Given the description of an element on the screen output the (x, y) to click on. 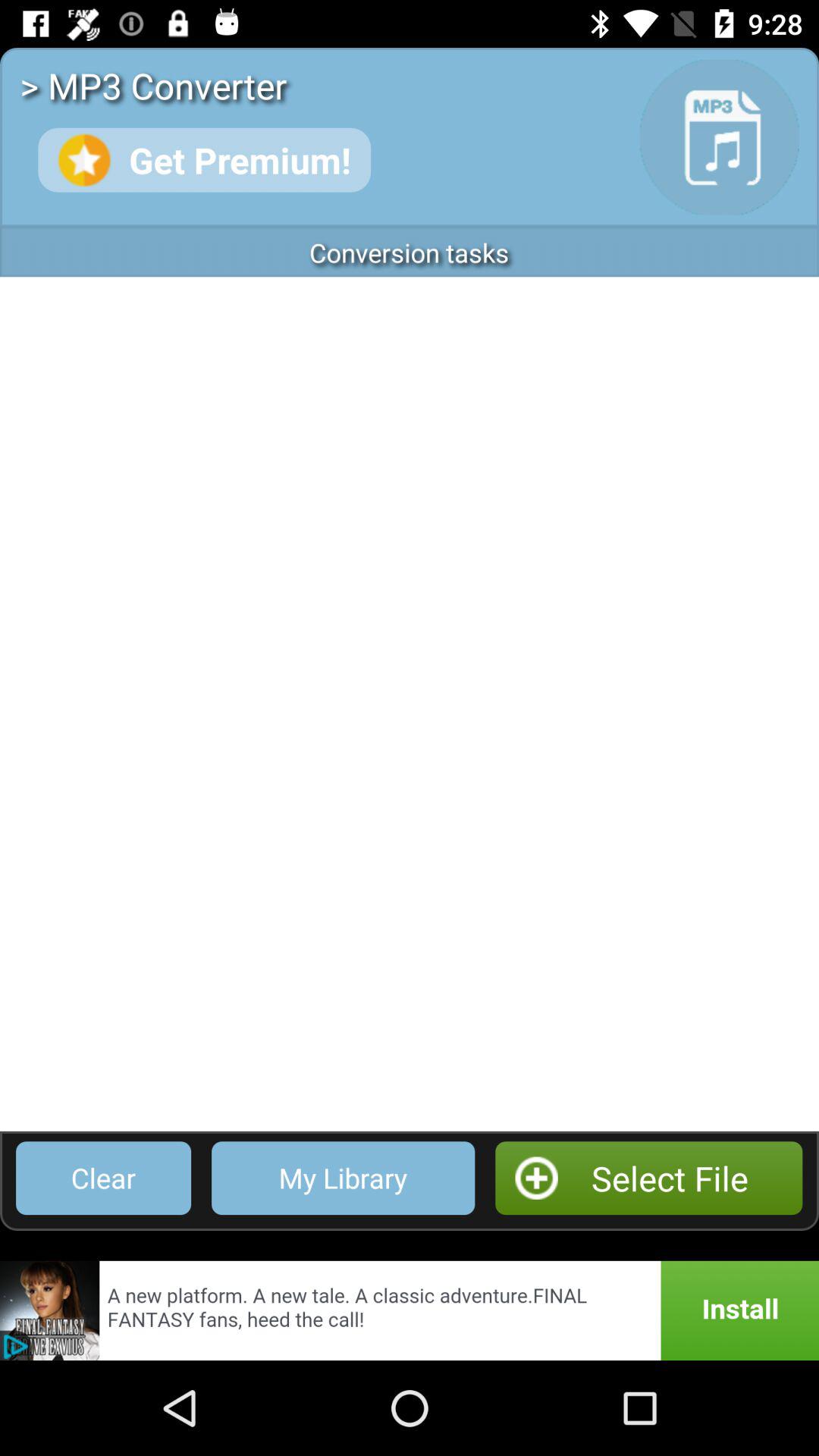
swipe until the my library app (342, 1177)
